Given the description of an element on the screen output the (x, y) to click on. 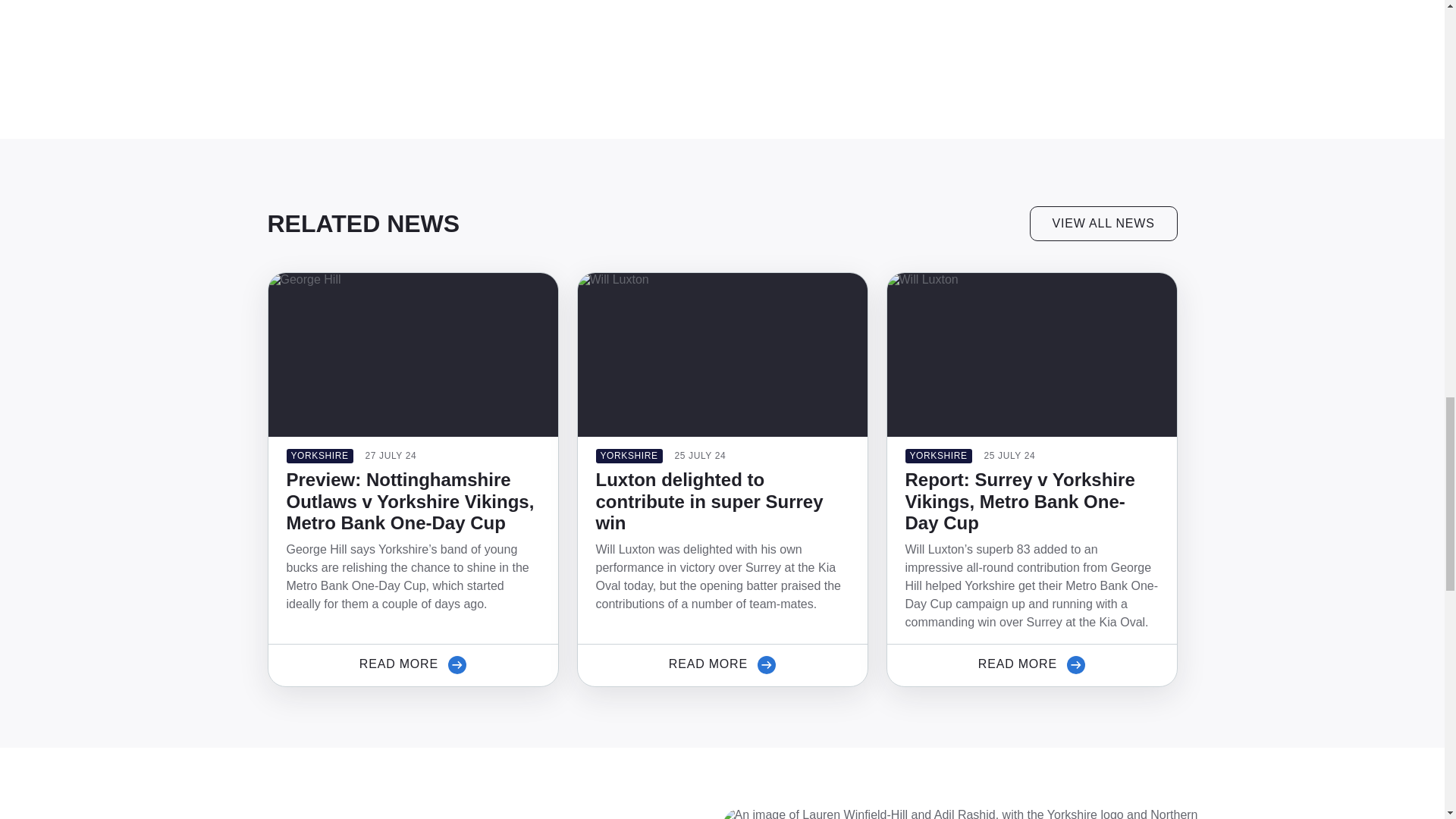
Highlights: Durham vs Yorkshire - Day Four (456, 30)
